Given the description of an element on the screen output the (x, y) to click on. 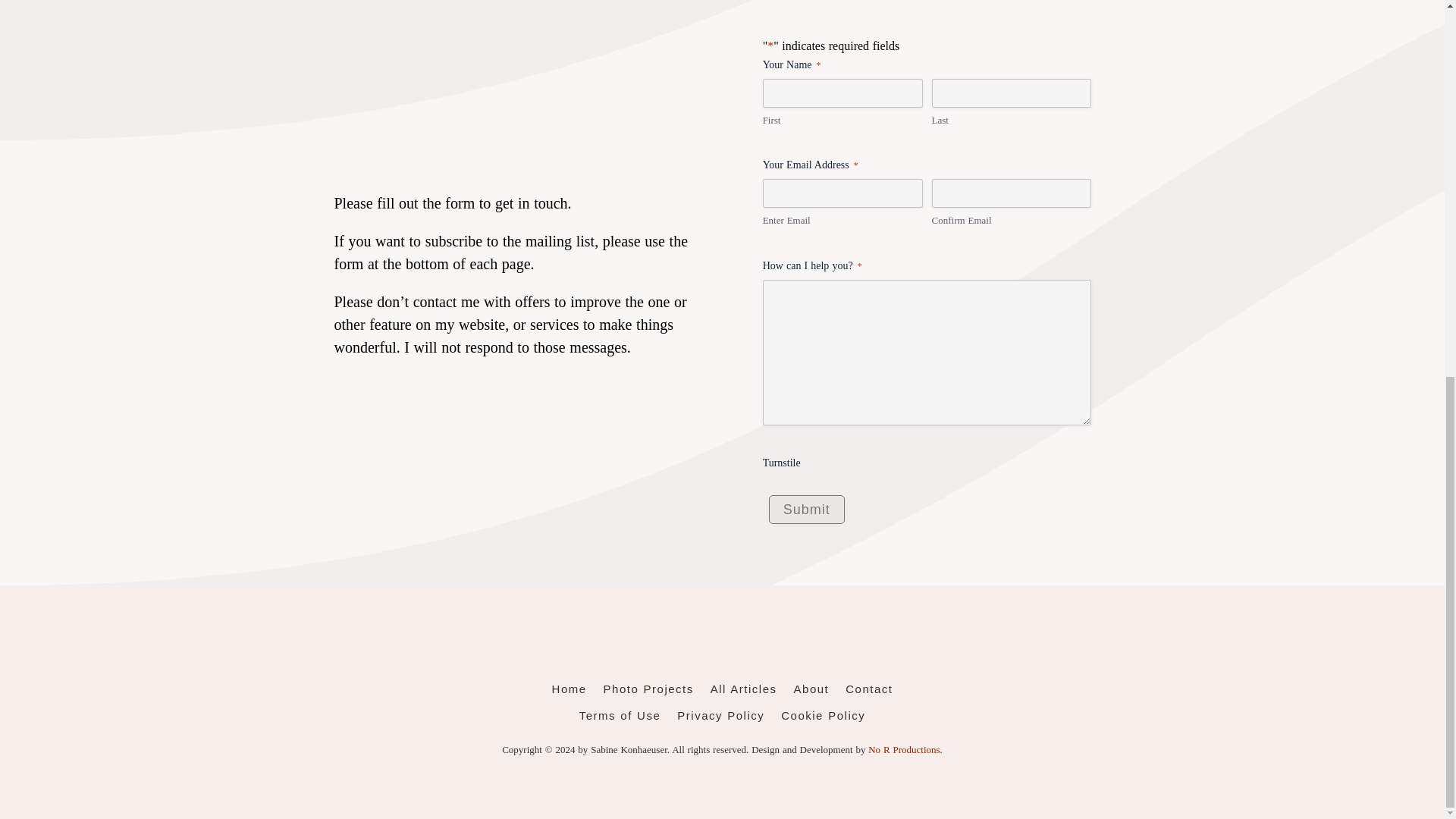
Terms of Use (620, 718)
About (811, 692)
Contact (868, 692)
Home (568, 692)
Photo Projects (649, 692)
No R Productions (903, 749)
All Articles (743, 692)
Submit (806, 509)
Cookie Policy (822, 718)
fokuspoint photography (721, 644)
Privacy Policy (720, 718)
Submit (806, 509)
